Given the description of an element on the screen output the (x, y) to click on. 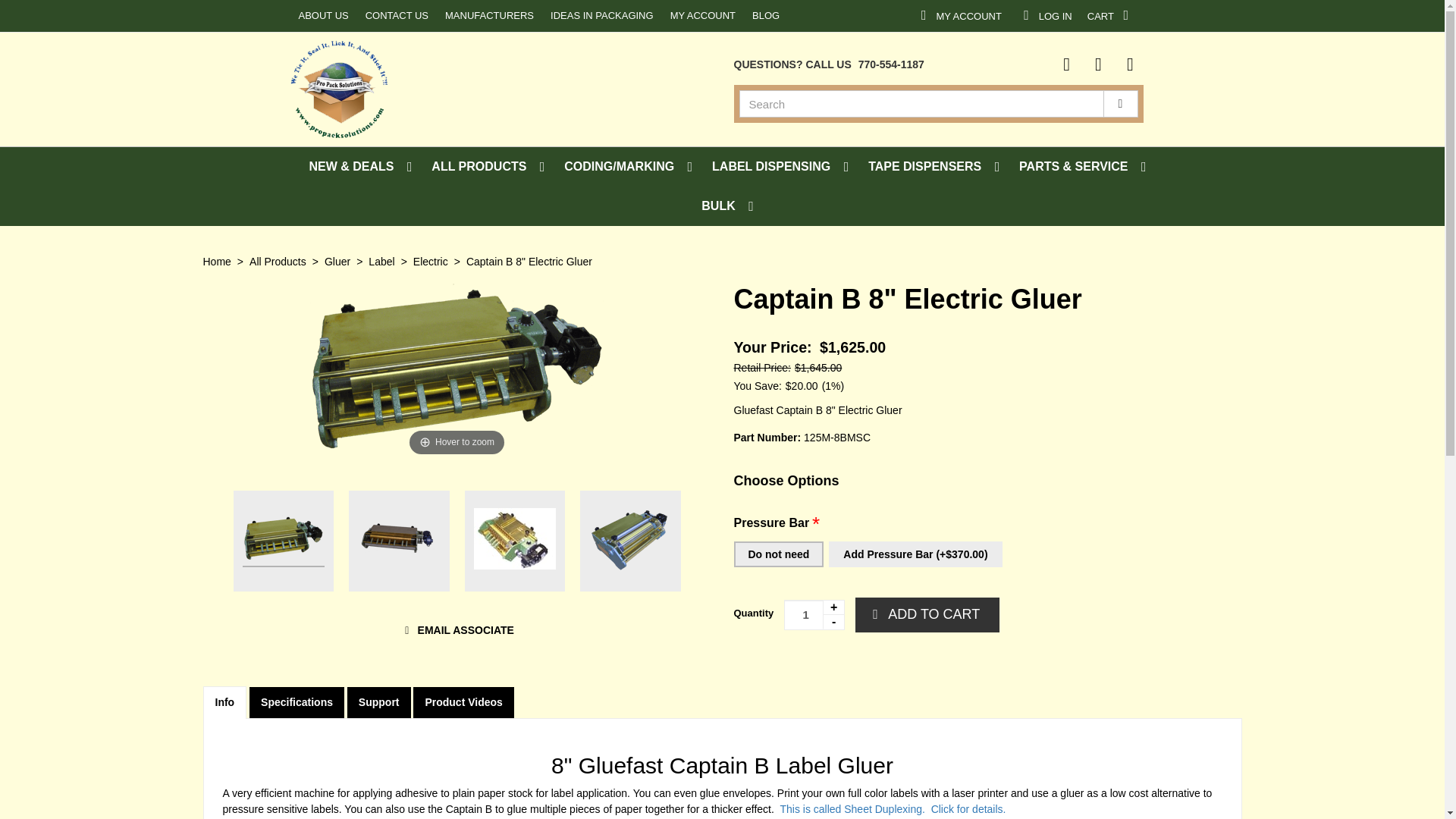
Subscribe to our Channel (1097, 64)
BLOG (647, 15)
MANUFACTURERS (303, 15)
Captain B has a new Carter motor! This is the 14".  (399, 540)
Follow Us on Instagram (1129, 64)
Add Pressure Bar (914, 554)
ABOUT US (19, 15)
Like Us on Facebook (1104, 15)
IDEAS IN PACKAGING (1065, 64)
CONTACT US (441, 15)
1 (167, 15)
ALL PRODUCTS (1182, 15)
